Given the description of an element on the screen output the (x, y) to click on. 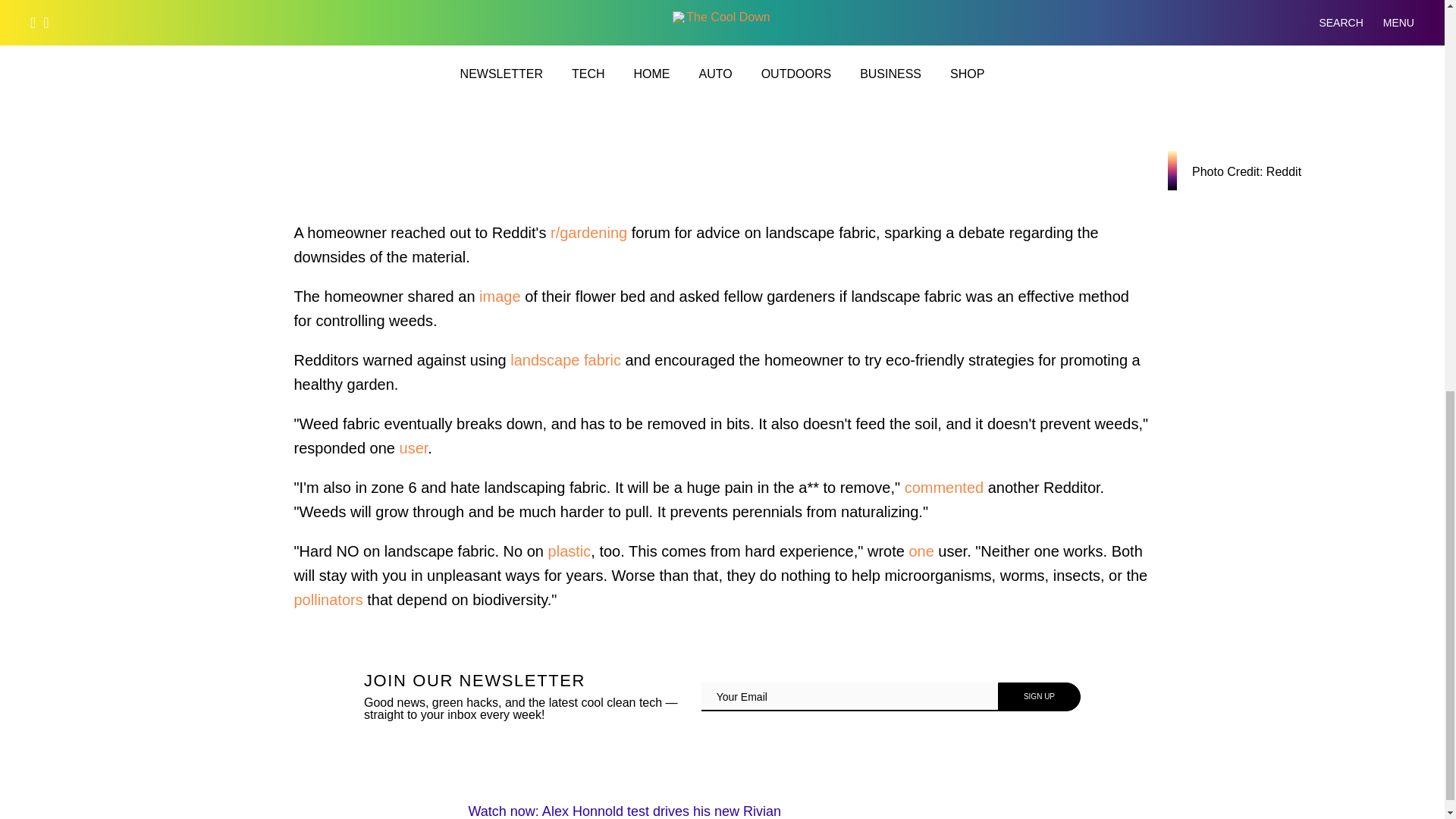
commented (944, 487)
landscape fabric (566, 360)
How to make your yard a friendlier place for pollinators (328, 599)
Plastic (569, 550)
plastic (569, 550)
image (499, 296)
user (413, 447)
Sign Up (1038, 696)
